Given the description of an element on the screen output the (x, y) to click on. 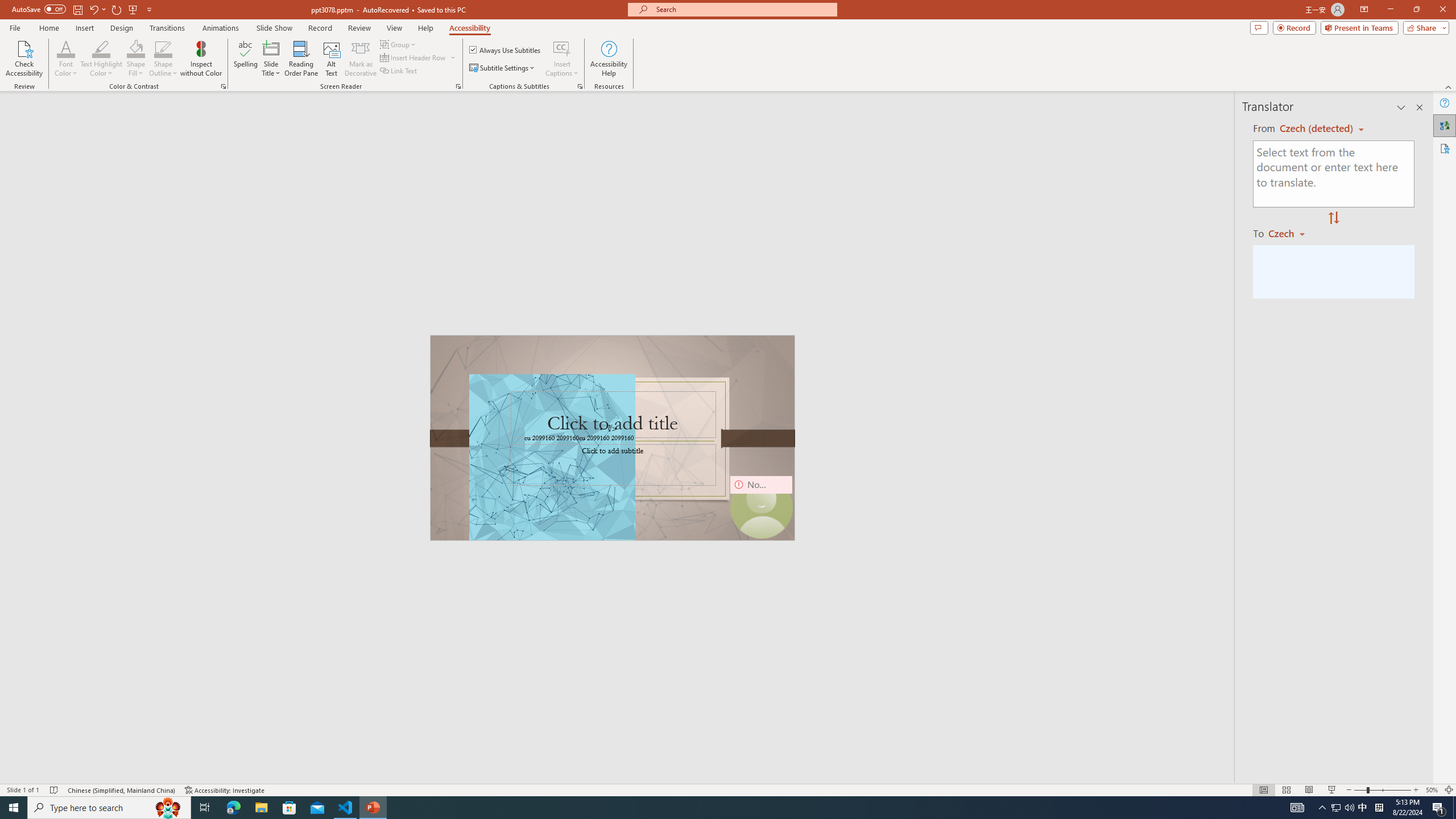
Always Use Subtitles (505, 49)
Link Text (399, 69)
